Given the description of an element on the screen output the (x, y) to click on. 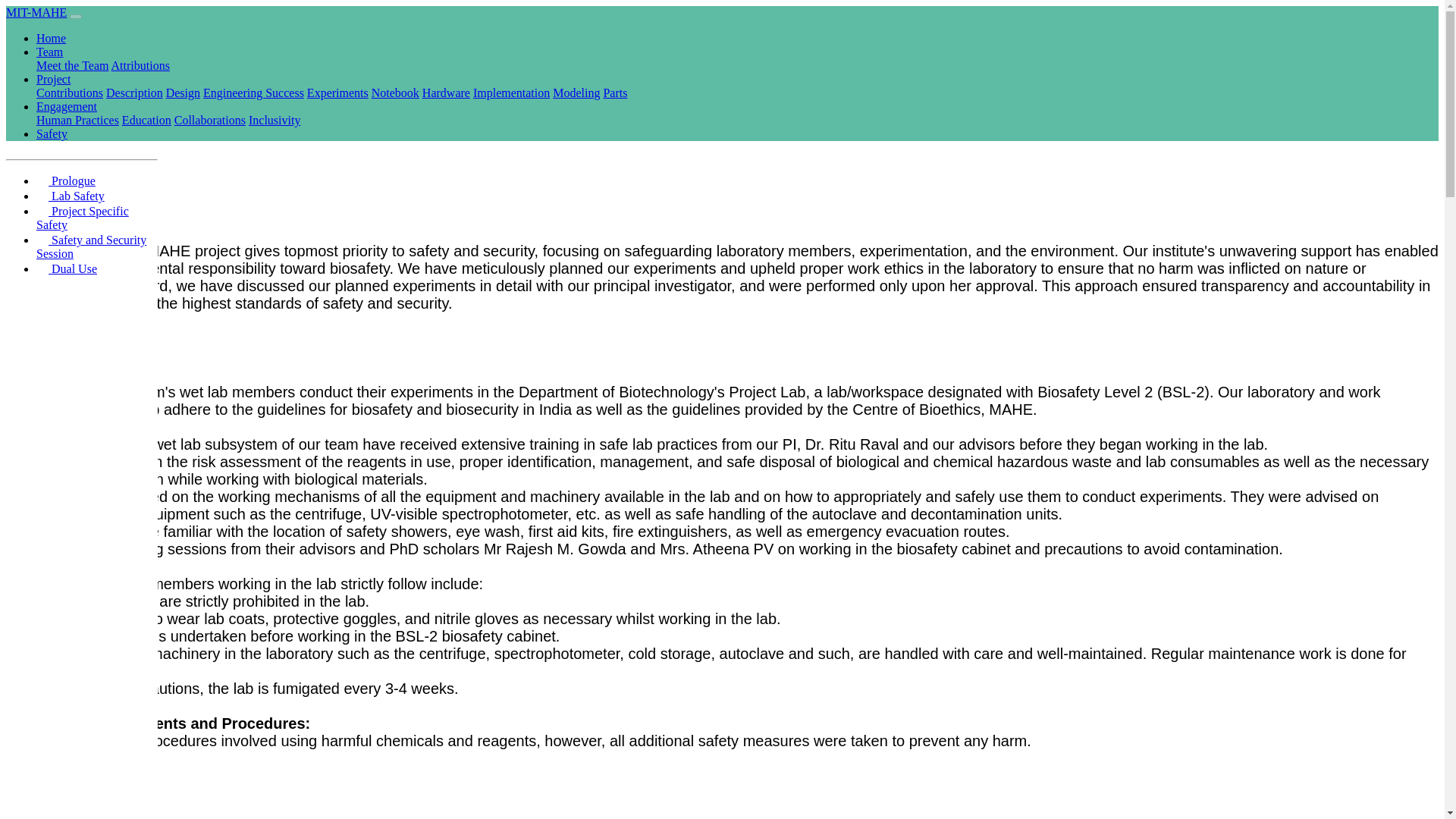
Collaborations (210, 119)
Contributions (69, 92)
Modeling (576, 92)
Design (182, 92)
Implementation (511, 92)
Dual Use (66, 268)
Parts (614, 92)
Project Specific Safety (82, 217)
UV light (29, 777)
Experiments (337, 92)
Education (146, 119)
Notebook (395, 92)
Attributions (141, 65)
Hardware (446, 92)
Engineering Success (253, 92)
